Given the description of an element on the screen output the (x, y) to click on. 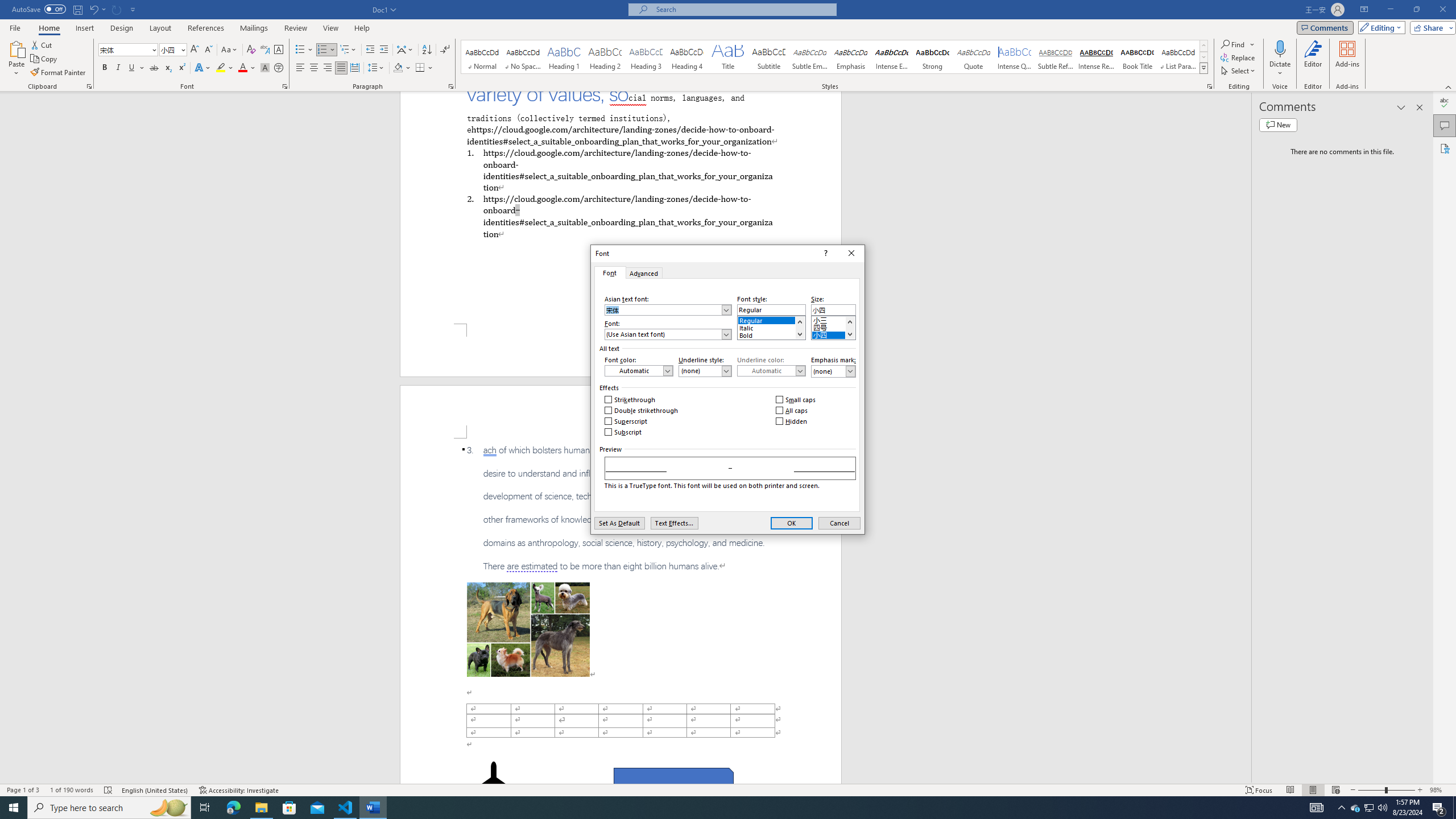
Mailings (253, 28)
Underline Color (Automatic) (771, 370)
Home (48, 28)
Focus  (1258, 790)
Font style: (771, 309)
Editor (1444, 102)
Emphasis mark: (833, 371)
AutomationID: 1795 (799, 327)
Undo Apply Quick Style (96, 9)
Character Shading (264, 67)
Format Painter (58, 72)
Comments (1444, 125)
Subtle Emphasis (809, 56)
Font... (285, 85)
